Given the description of an element on the screen output the (x, y) to click on. 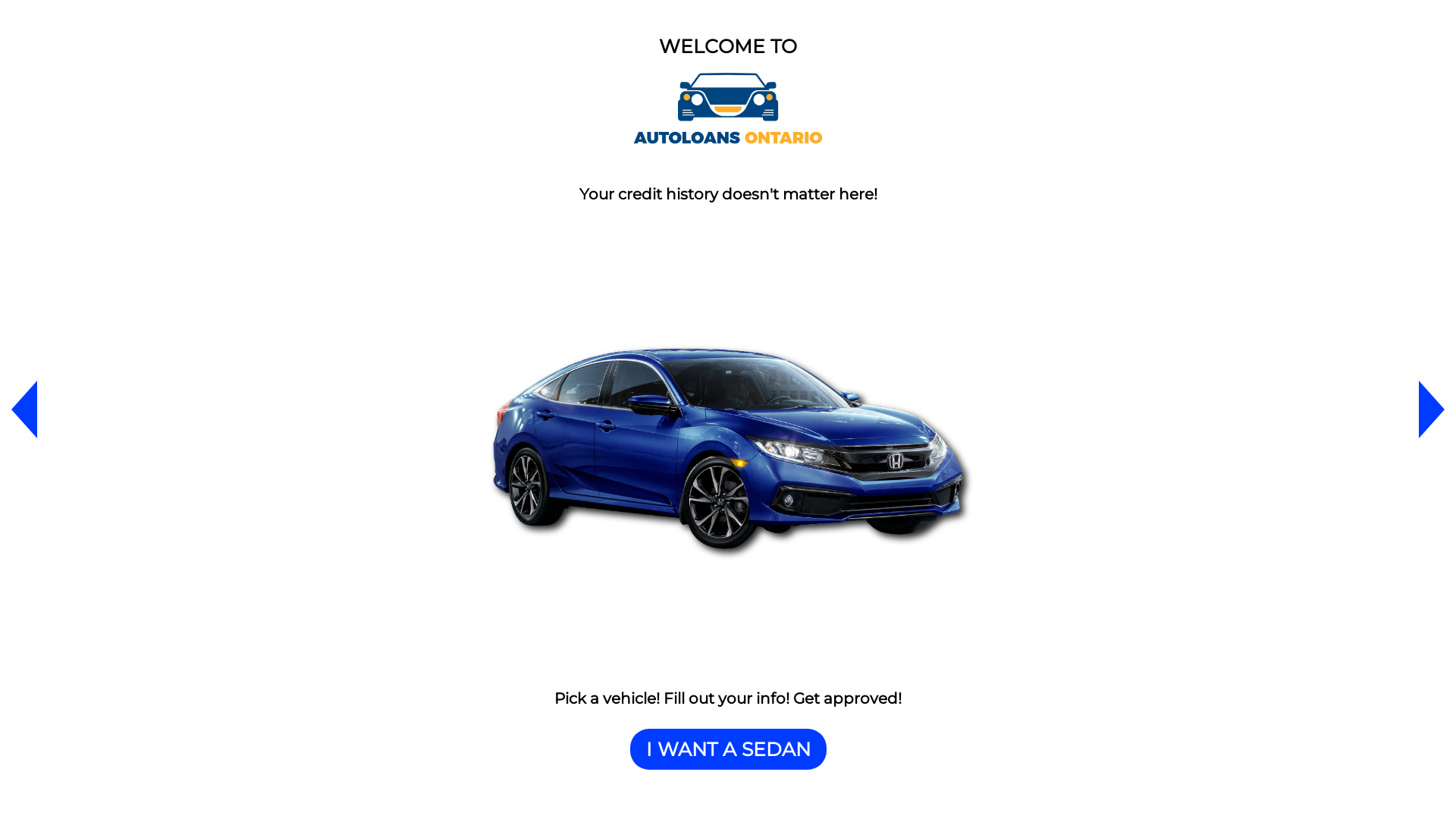
I WANT A SEDAN Element type: text (727, 748)
